Given the description of an element on the screen output the (x, y) to click on. 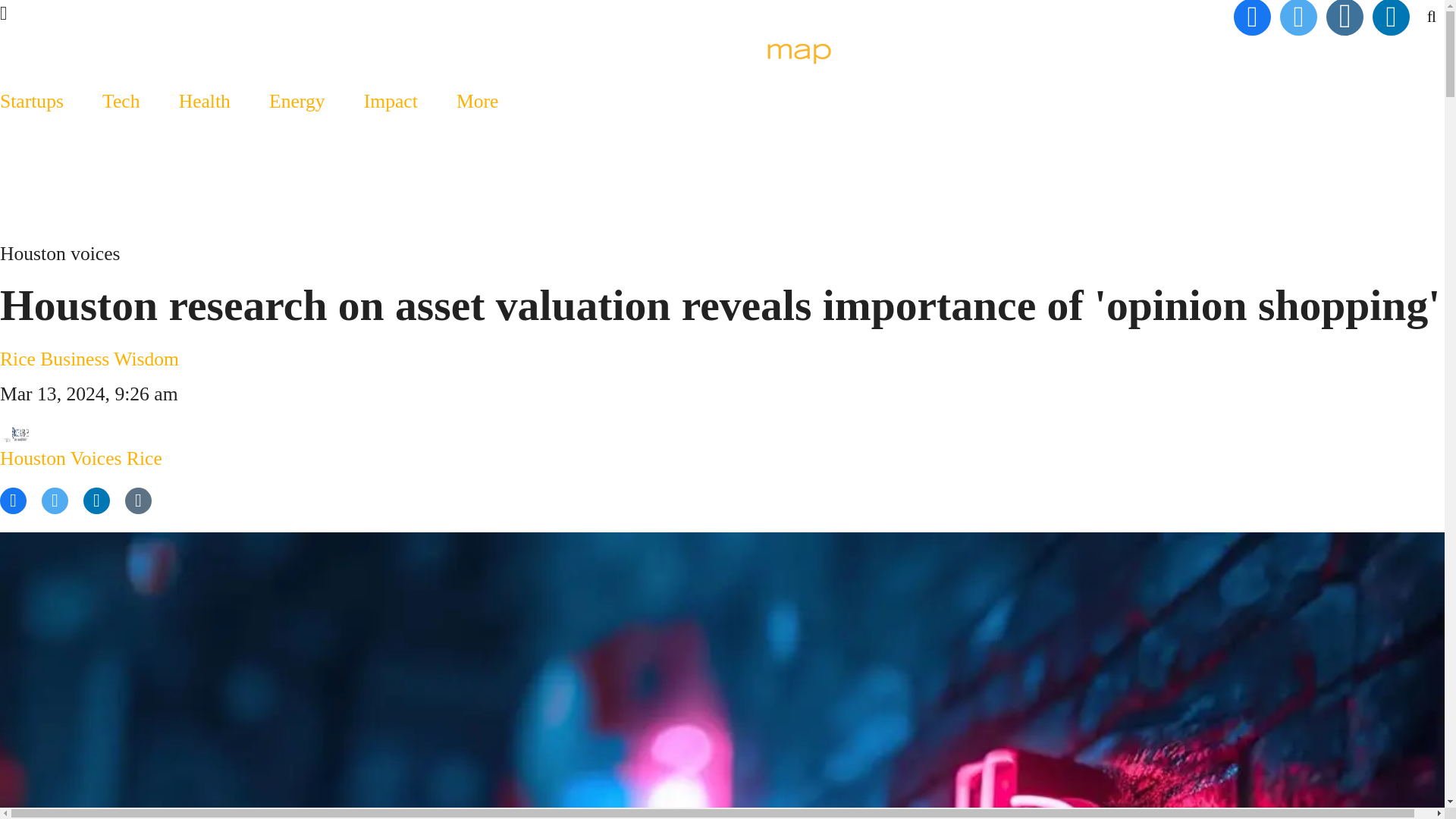
Energy (295, 100)
Startups (41, 100)
3rd party ad content (721, 198)
More (477, 100)
Rice Business Wisdom (89, 359)
Health (203, 100)
Impact (389, 100)
Tech (121, 100)
Houston Voices Rice (80, 443)
